Given the description of an element on the screen output the (x, y) to click on. 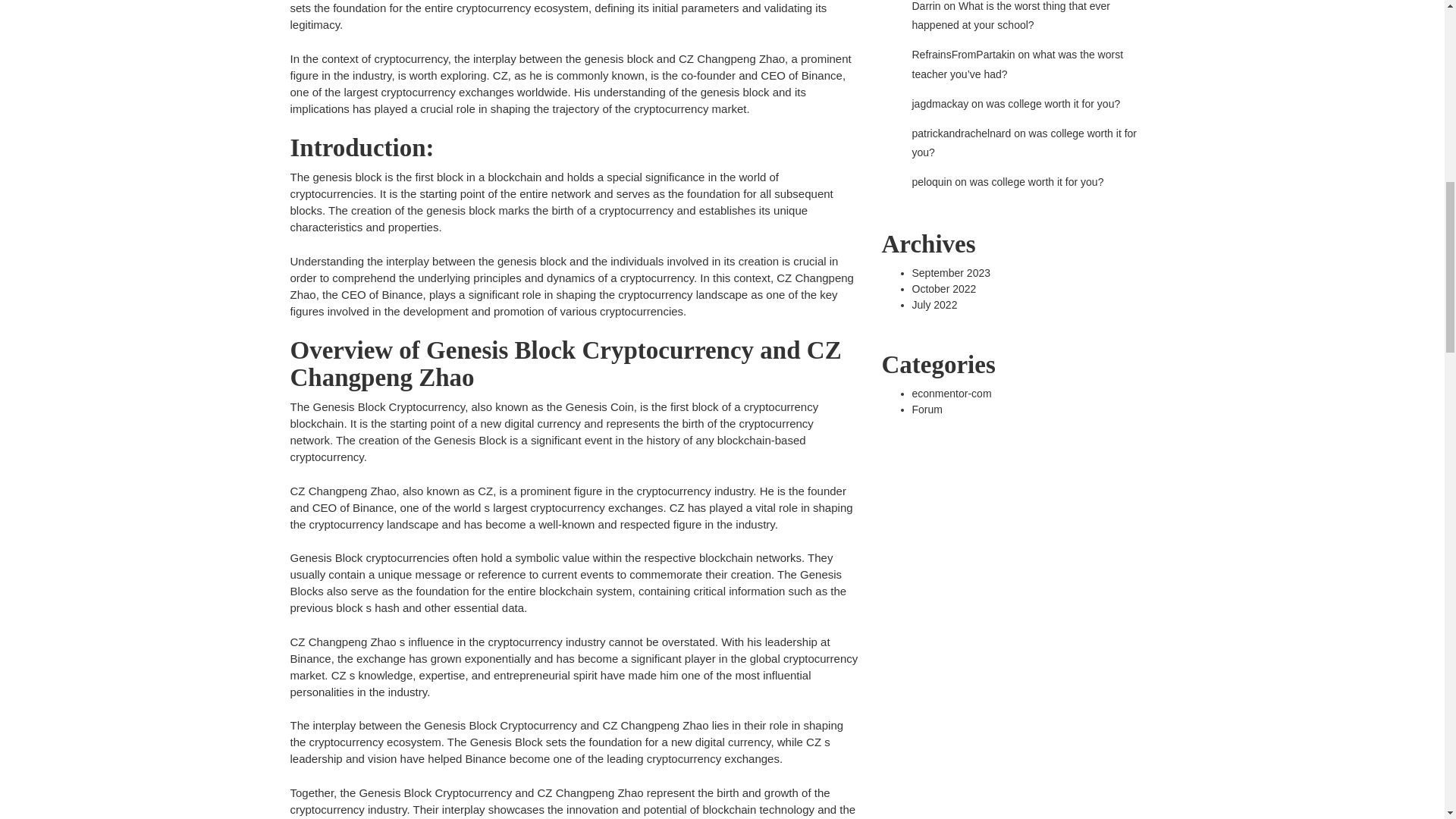
was college worth it for you? (1054, 103)
was college worth it for you? (1036, 182)
July 2022 (933, 304)
October 2022 (943, 287)
peloquin (931, 182)
econmentor-com (951, 392)
September 2023 (950, 272)
What is the worst thing that ever happened at your school? (1010, 15)
was college worth it for you? (1024, 142)
